Given the description of an element on the screen output the (x, y) to click on. 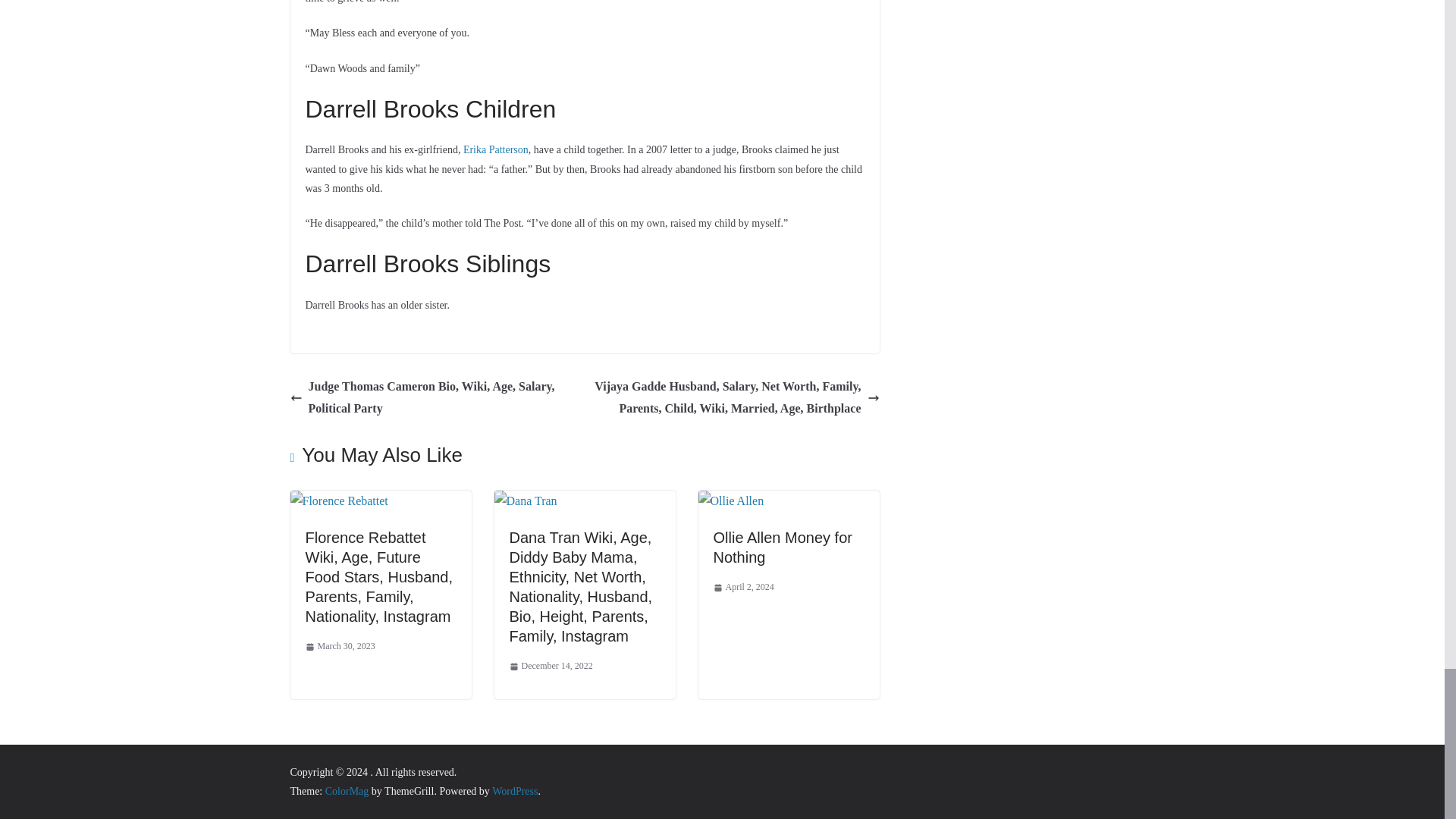
March 30, 2023 (339, 646)
Judge Thomas Cameron Bio, Wiki, Age, Salary, Political Party (432, 397)
Erika Patterson (495, 149)
December 14, 2022 (550, 666)
Ollie Allen Money for Nothing (782, 547)
